Given the description of an element on the screen output the (x, y) to click on. 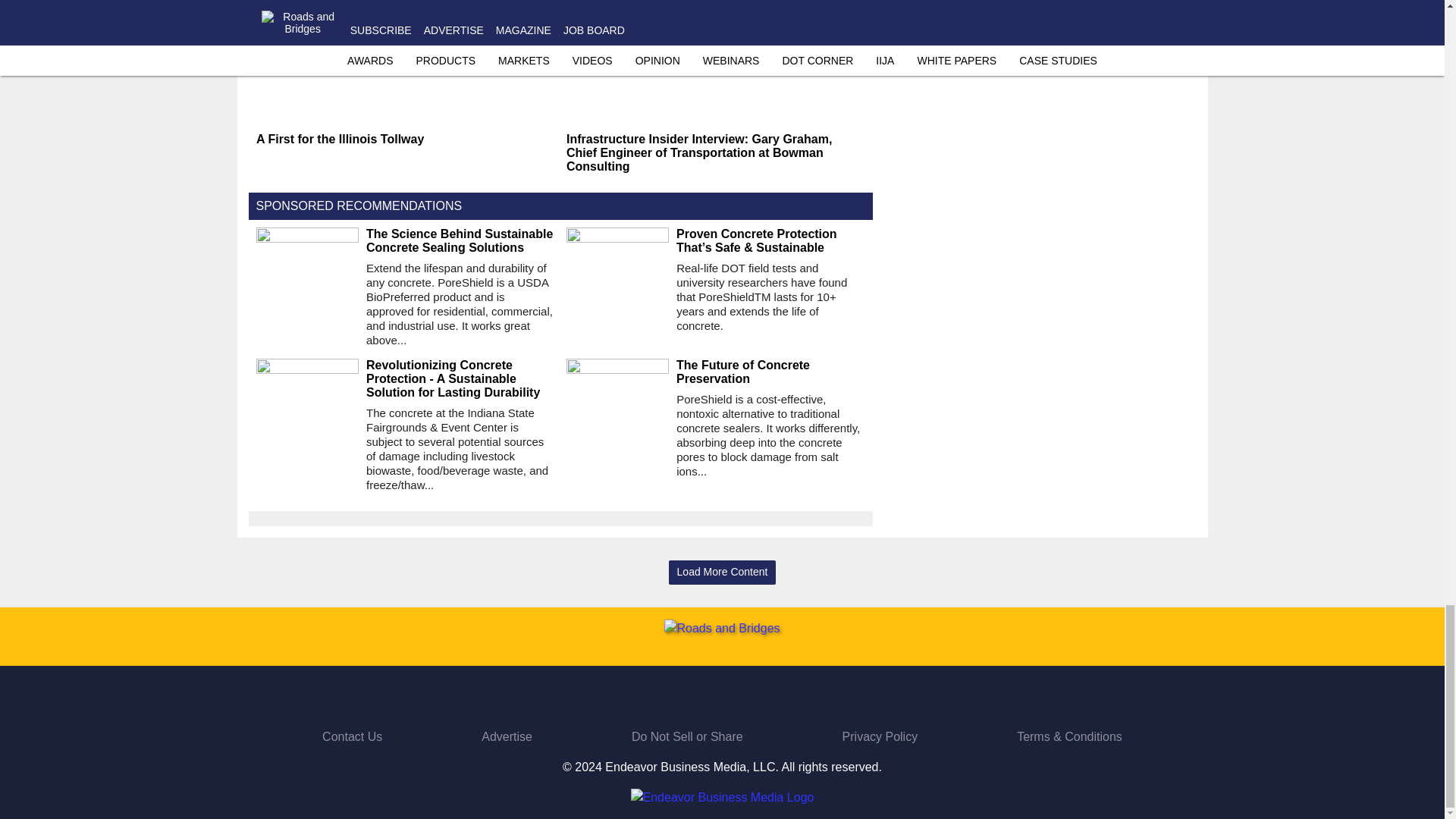
A First for the Illinois Tollway (405, 139)
The Future of Concrete Preservation (770, 371)
The Science Behind Sustainable Concrete Sealing Solutions (459, 240)
